Given the description of an element on the screen output the (x, y) to click on. 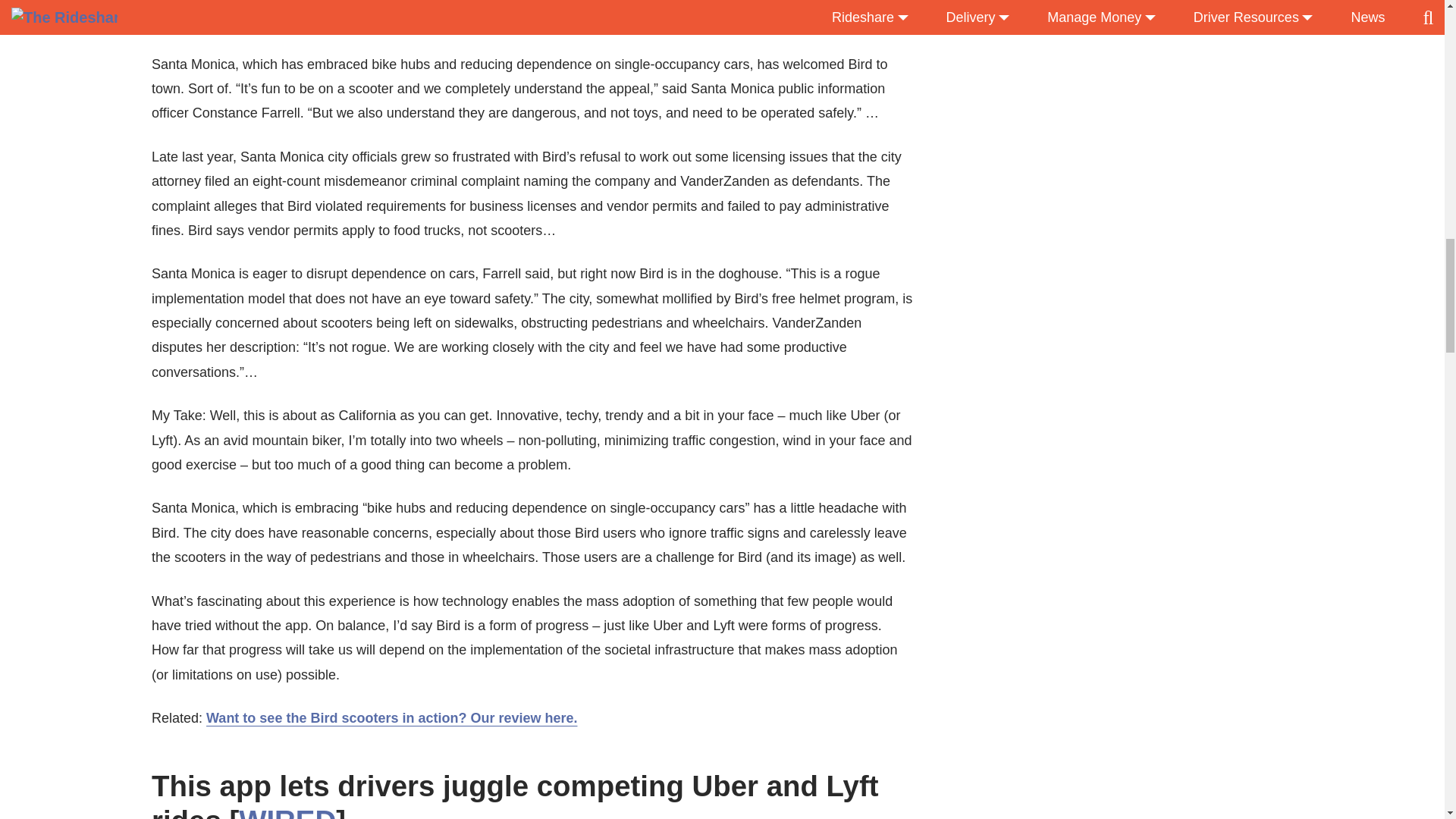
Want to see the Bird scooters in action? Our review here. (391, 717)
WIRED (287, 811)
